Given the description of an element on the screen output the (x, y) to click on. 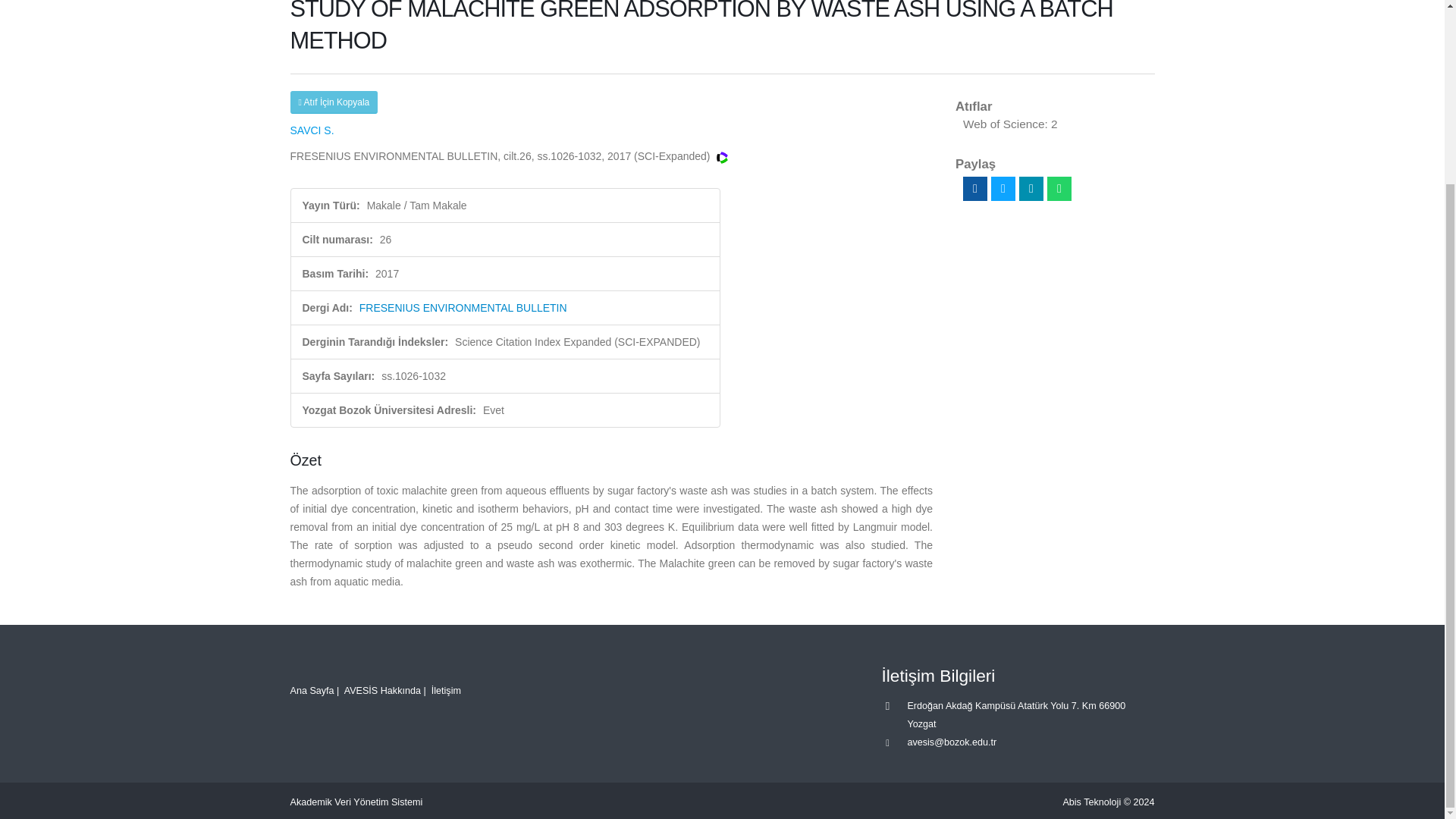
Ana Sayfa (311, 690)
FRESENIUS ENVIRONMENTAL BULLETIN (463, 307)
SAVCI S. (311, 130)
Abis Teknoloji (1091, 801)
